Given the description of an element on the screen output the (x, y) to click on. 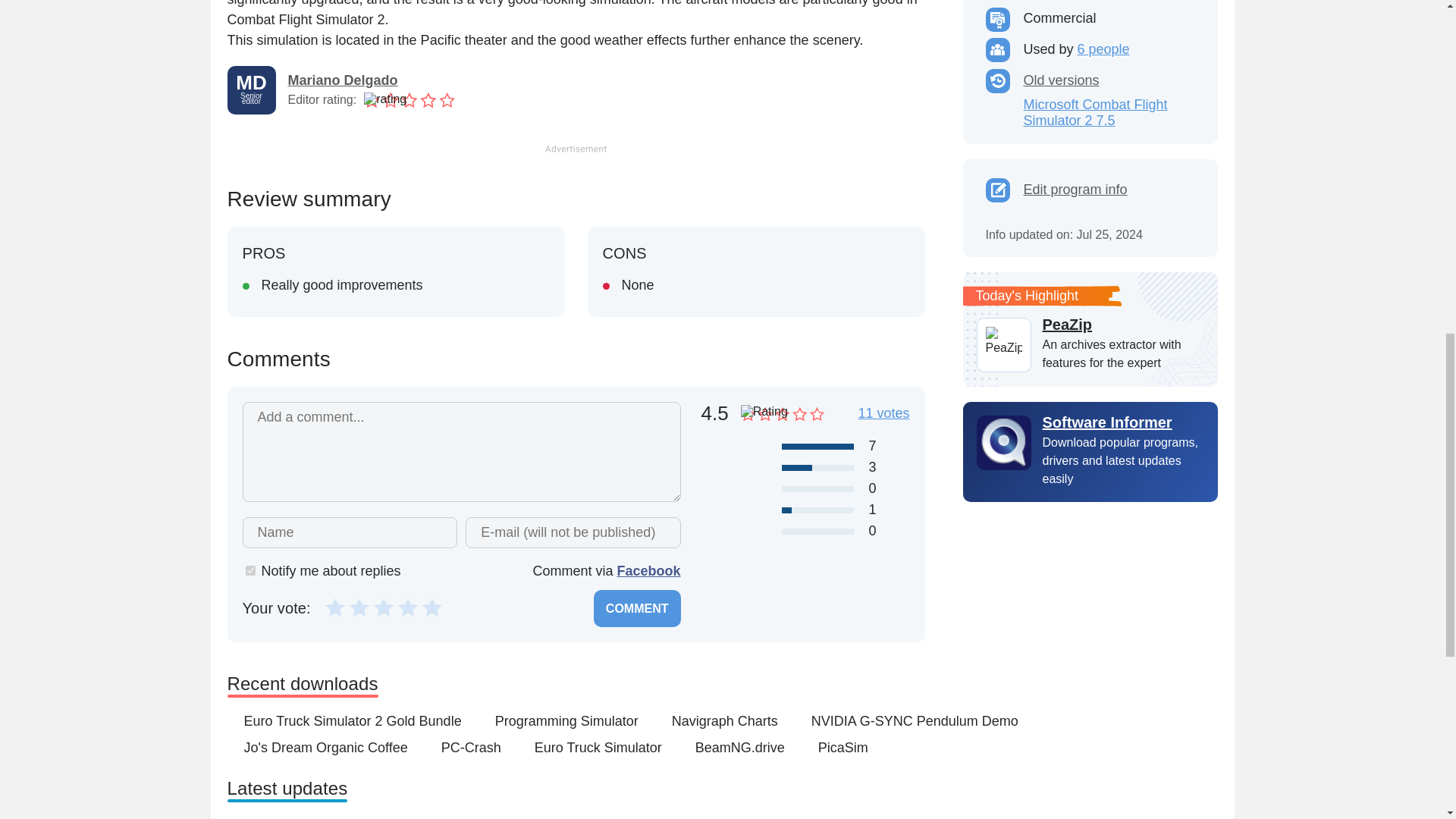
4 (408, 606)
2 (359, 606)
3 (383, 606)
1 (251, 570)
6 people (1103, 48)
5 (432, 606)
Software Informer (1090, 422)
1 (335, 606)
Comment (637, 608)
PeaZip (1123, 323)
